Given the description of an element on the screen output the (x, y) to click on. 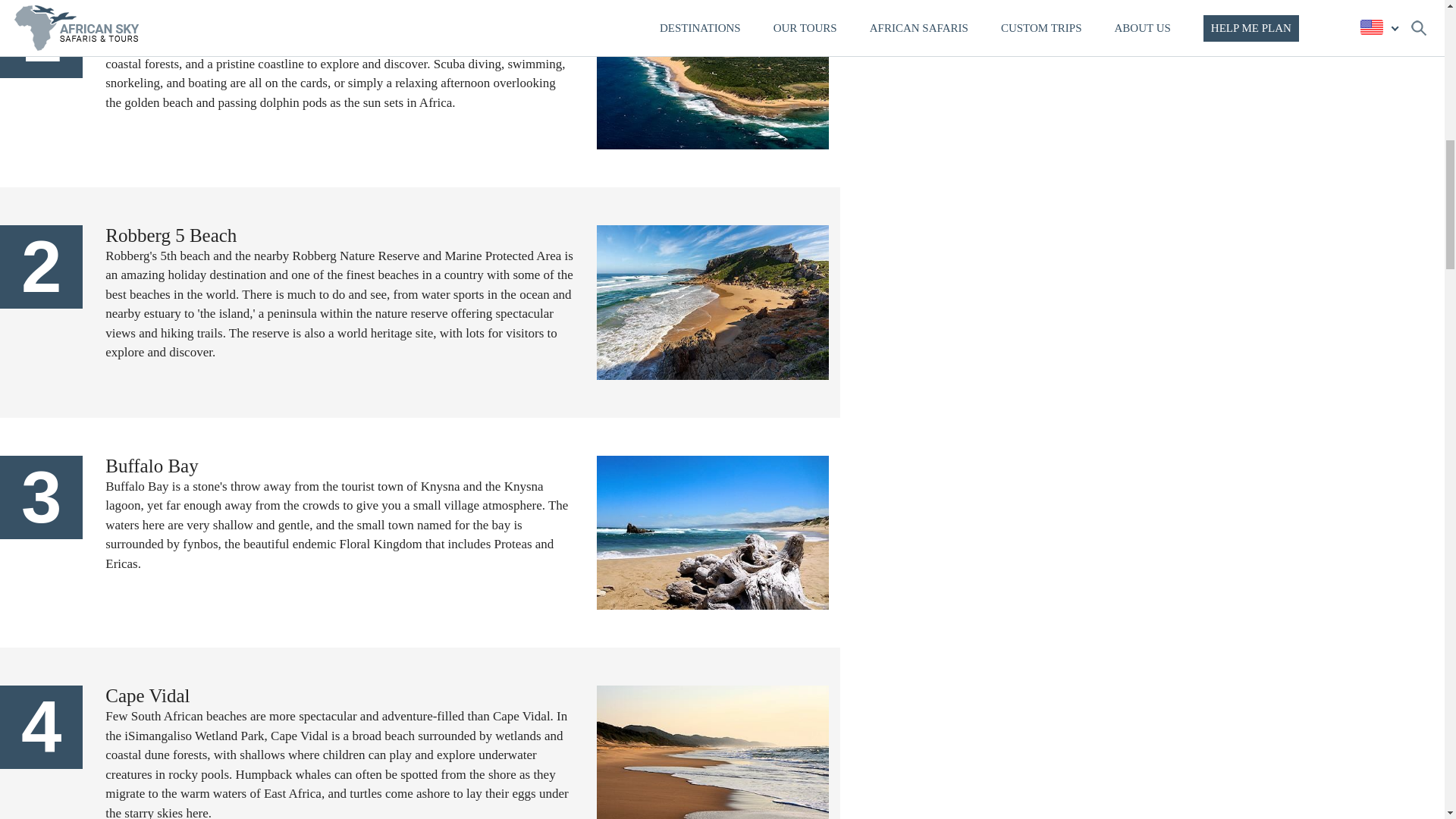
iSimangaliso Wetland Park (316, 35)
